Given the description of an element on the screen output the (x, y) to click on. 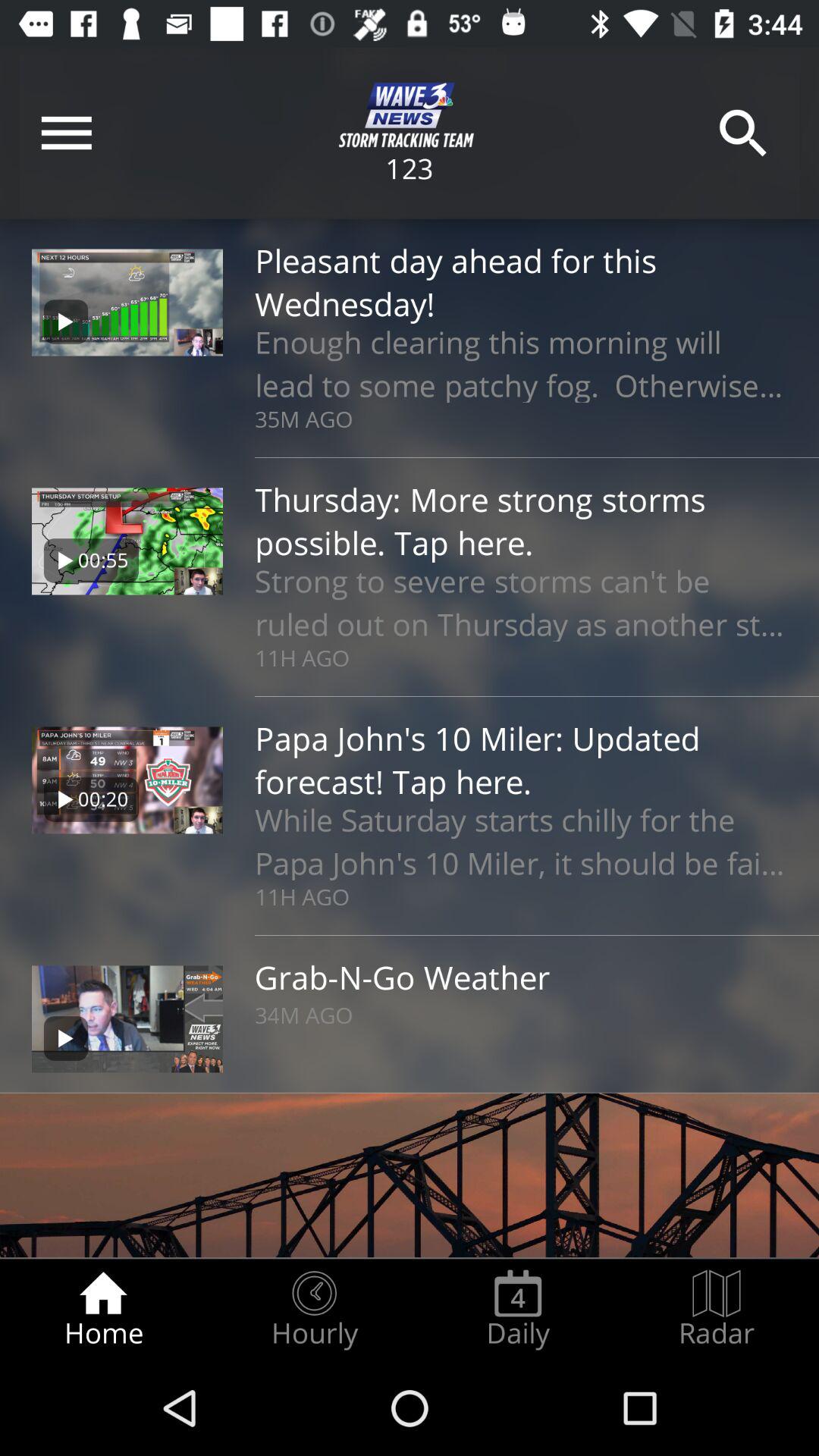
scroll until the home radio button (103, 1309)
